Given the description of an element on the screen output the (x, y) to click on. 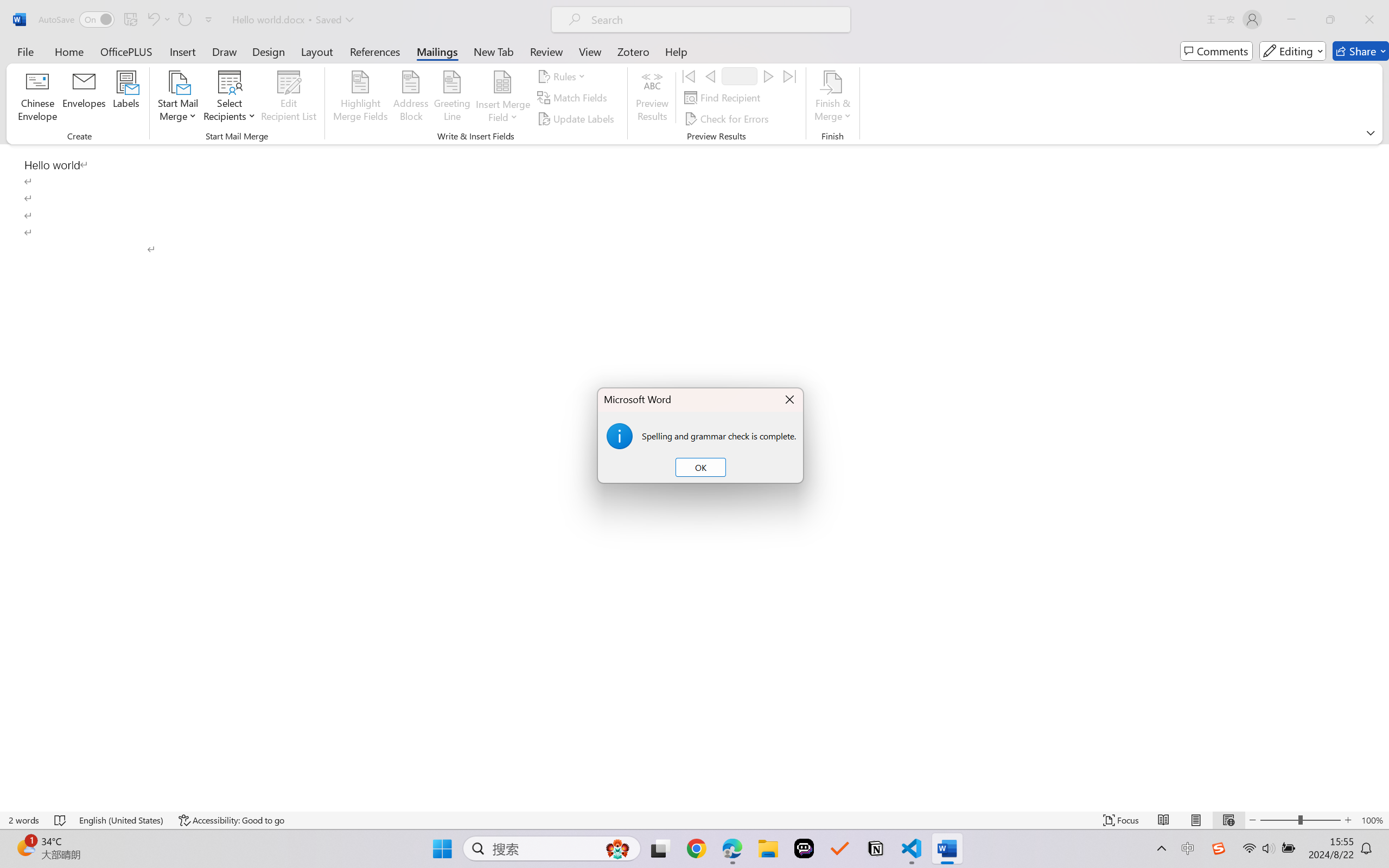
Home (69, 51)
Help (675, 51)
AutomationID: DynamicSearchBoxGleamImage (617, 848)
Google Chrome (696, 848)
Ribbon Display Options (1370, 132)
Highlight Merge Fields (360, 97)
Share (1360, 51)
Layout (316, 51)
Preview Results (652, 97)
Last (790, 75)
Accessibility Checker Accessibility: Good to go (231, 819)
